Given the description of an element on the screen output the (x, y) to click on. 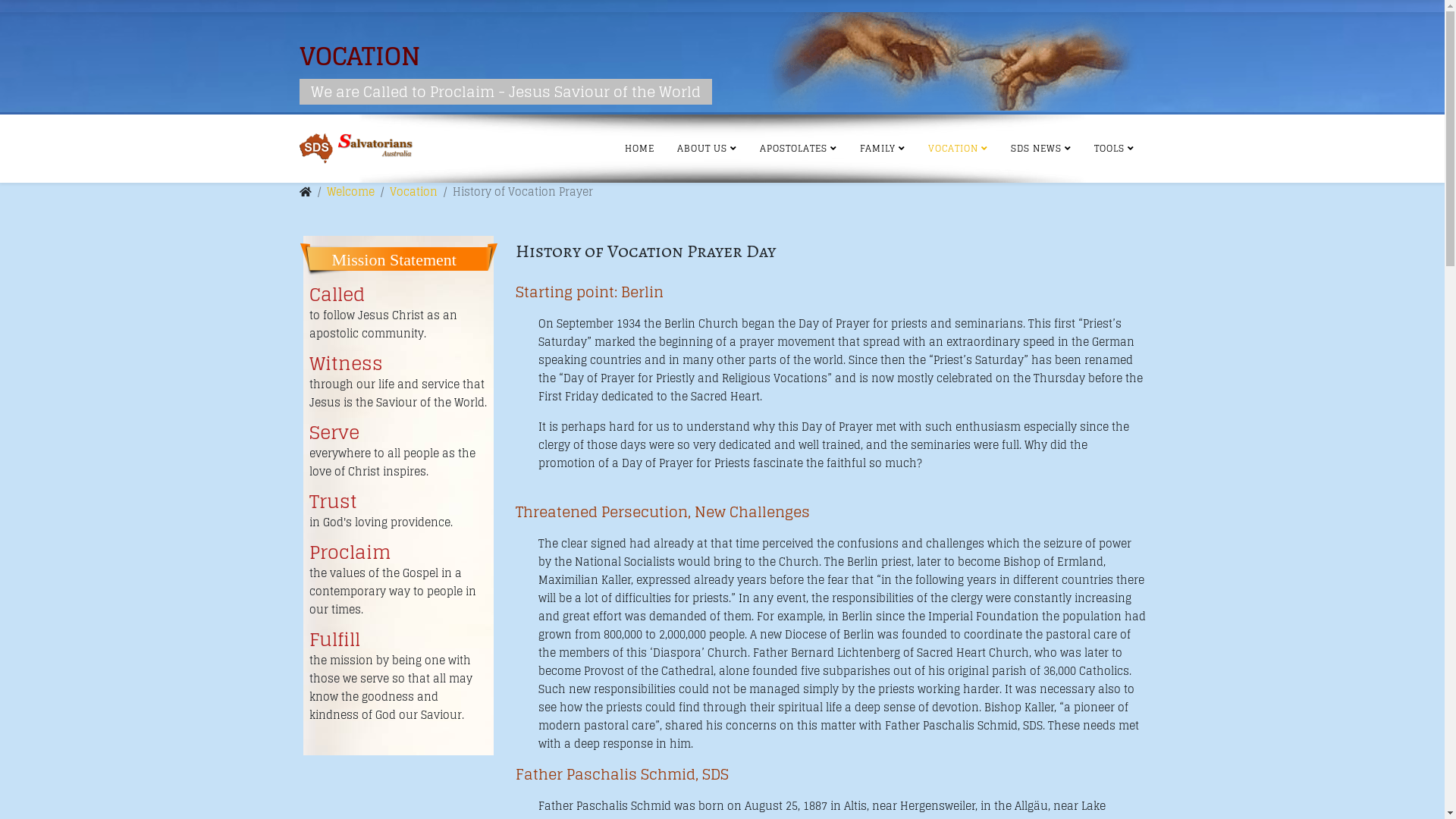
APOSTOLATES Element type: text (797, 148)
HOME Element type: text (638, 148)
FAMILY Element type: text (881, 148)
VOCATION Element type: text (957, 148)
TOOLS Element type: text (1113, 148)
Vocation Element type: text (413, 191)
SDS NEWS Element type: text (1040, 148)
ABOUT US Element type: text (706, 148)
Welcome Element type: text (349, 191)
